Given the description of an element on the screen output the (x, y) to click on. 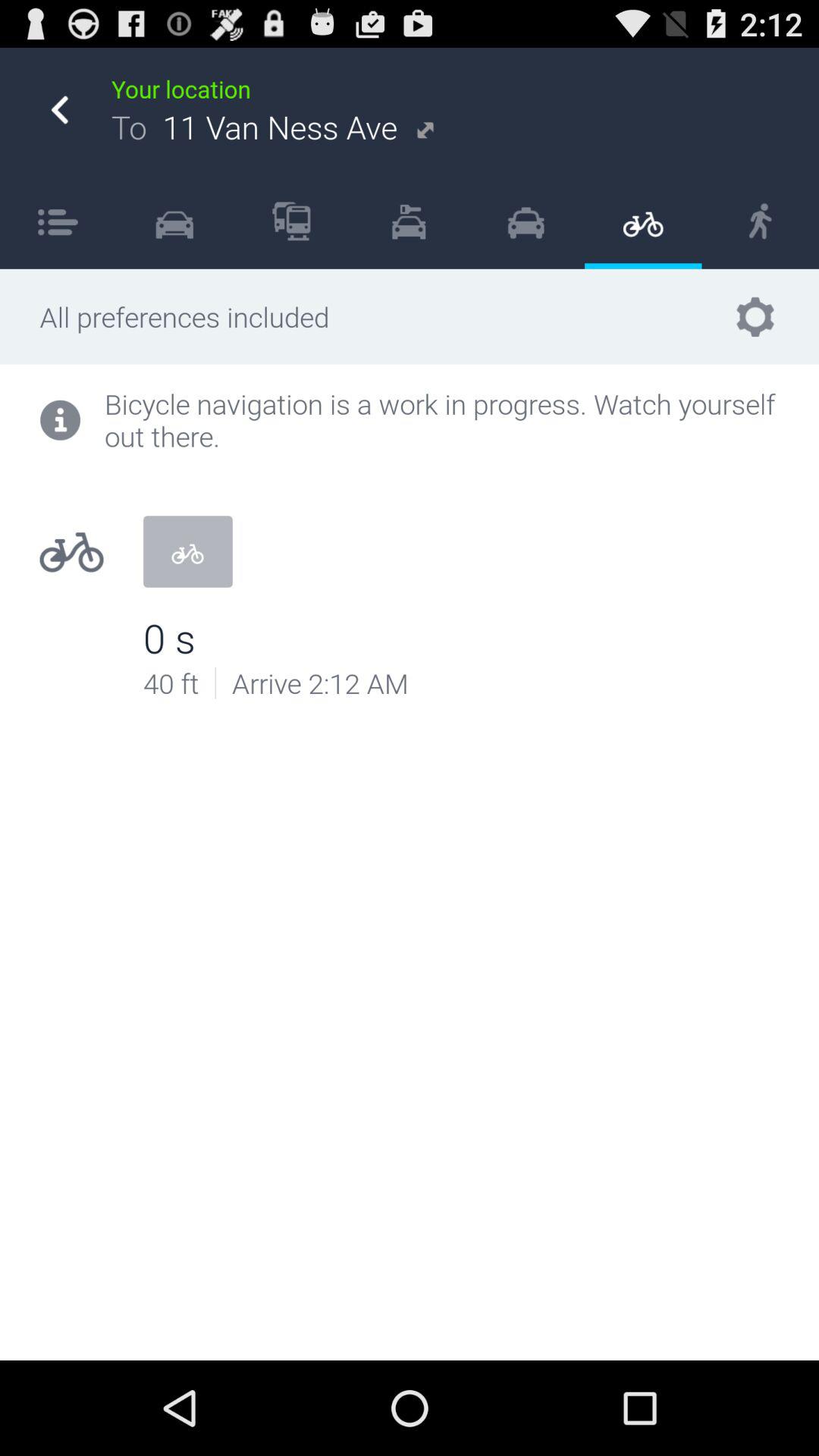
turn on icon next to the (174, 221)
